Given the description of an element on the screen output the (x, y) to click on. 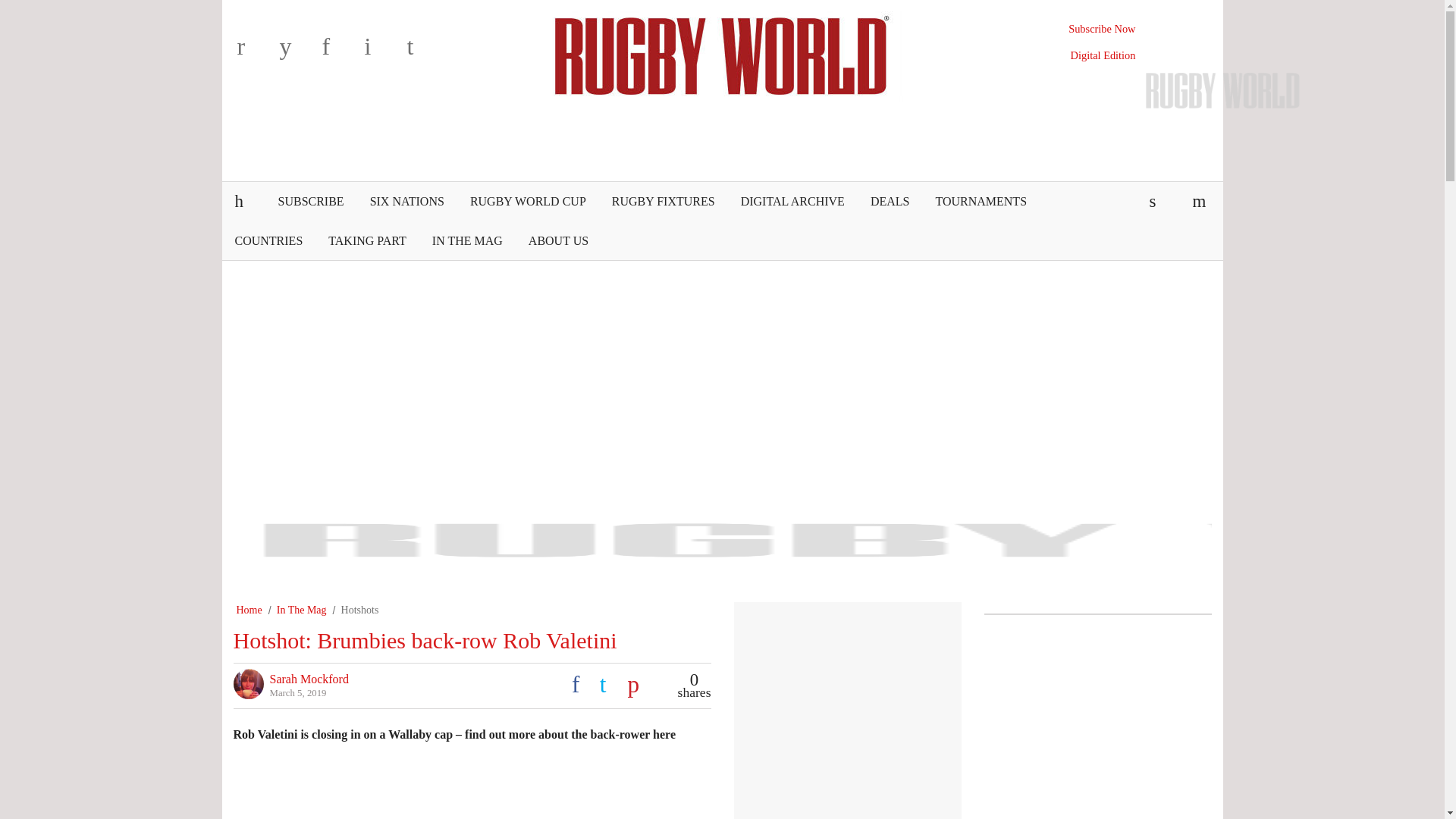
DIGITAL ARCHIVE (792, 201)
RUGBY WORLD CUP (527, 201)
TOURNAMENTS (980, 201)
Subscribe Now (1101, 28)
y (297, 52)
i (382, 52)
Digital Edition (1102, 55)
DEALS (890, 201)
r (254, 52)
RUGBY FIXTURES (663, 201)
